Given the description of an element on the screen output the (x, y) to click on. 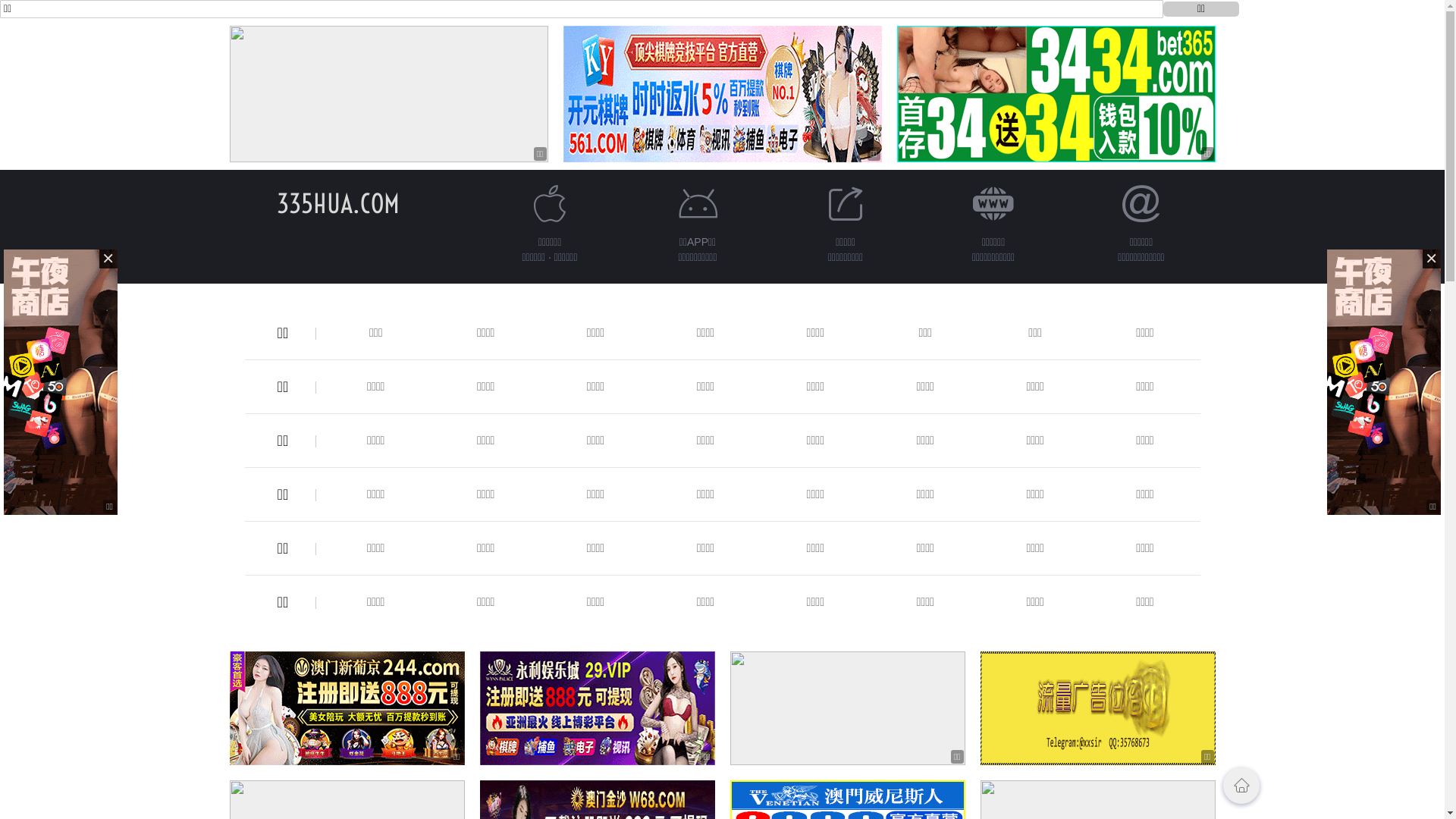
335HUA.COM Element type: text (337, 203)
